Given the description of an element on the screen output the (x, y) to click on. 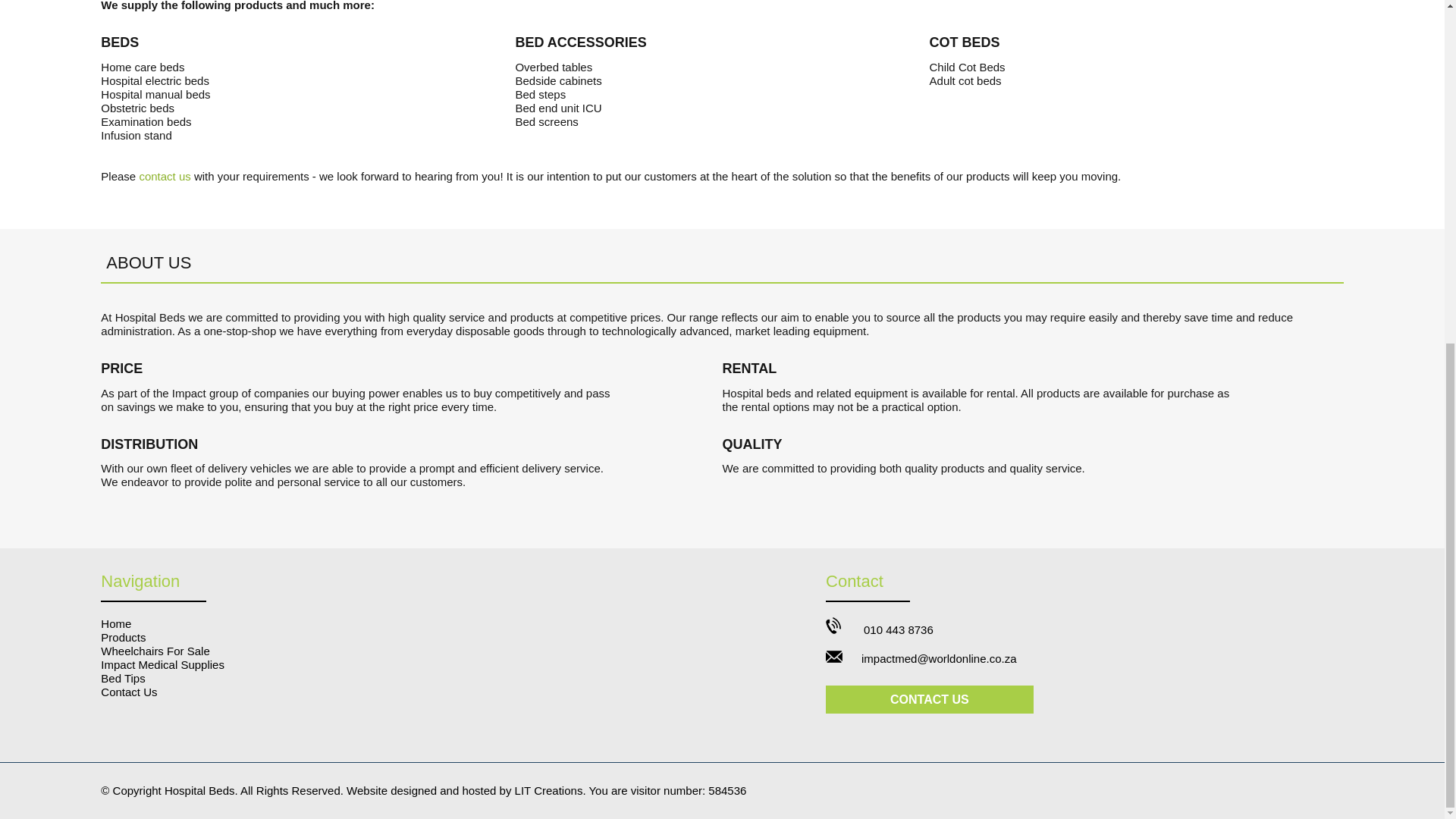
Products (122, 636)
Home (115, 623)
Contact Us (128, 691)
contact us (164, 175)
Bed Tips (122, 677)
LIT Creations (549, 789)
010 443 8736 (898, 629)
Impact Medical Supplies (162, 664)
Wheelchairs For Sale (154, 650)
CONTACT US (929, 699)
